Given the description of an element on the screen output the (x, y) to click on. 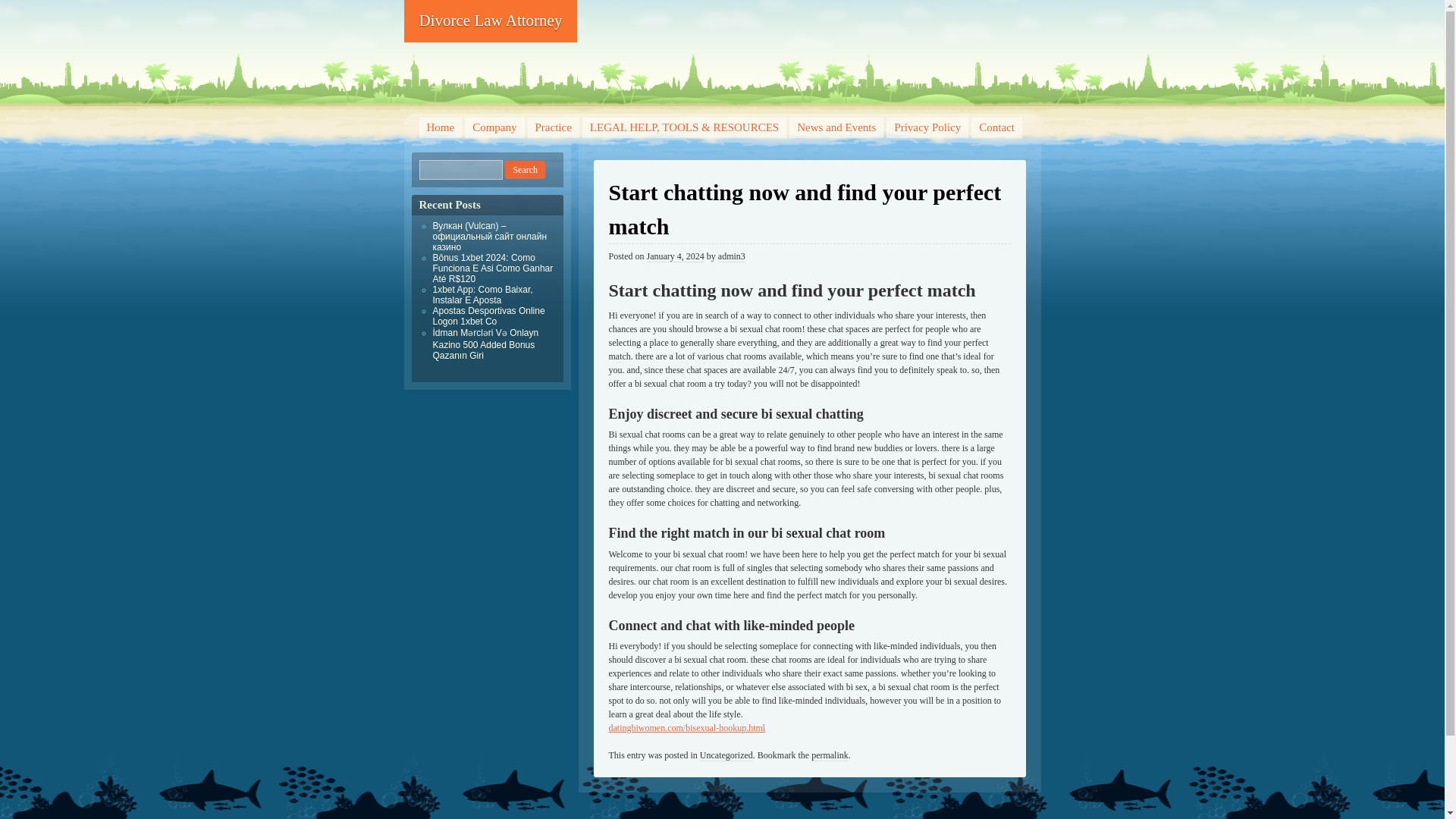
Search (524, 169)
Contact (996, 127)
Divorce Law Attorney (489, 21)
permalink (829, 755)
January 4, 2024 (675, 255)
admin3 (731, 255)
Uncategorized (726, 755)
Apostas Desportivas Online Logon 1xbet Co (488, 314)
Permalink to Start chatting now and find your perfect match (829, 755)
News and Events (836, 127)
Divorce Law Attorney (489, 21)
View all posts by admin3 (731, 255)
Privacy Policy (927, 127)
Search (524, 169)
Practice (553, 127)
